Given the description of an element on the screen output the (x, y) to click on. 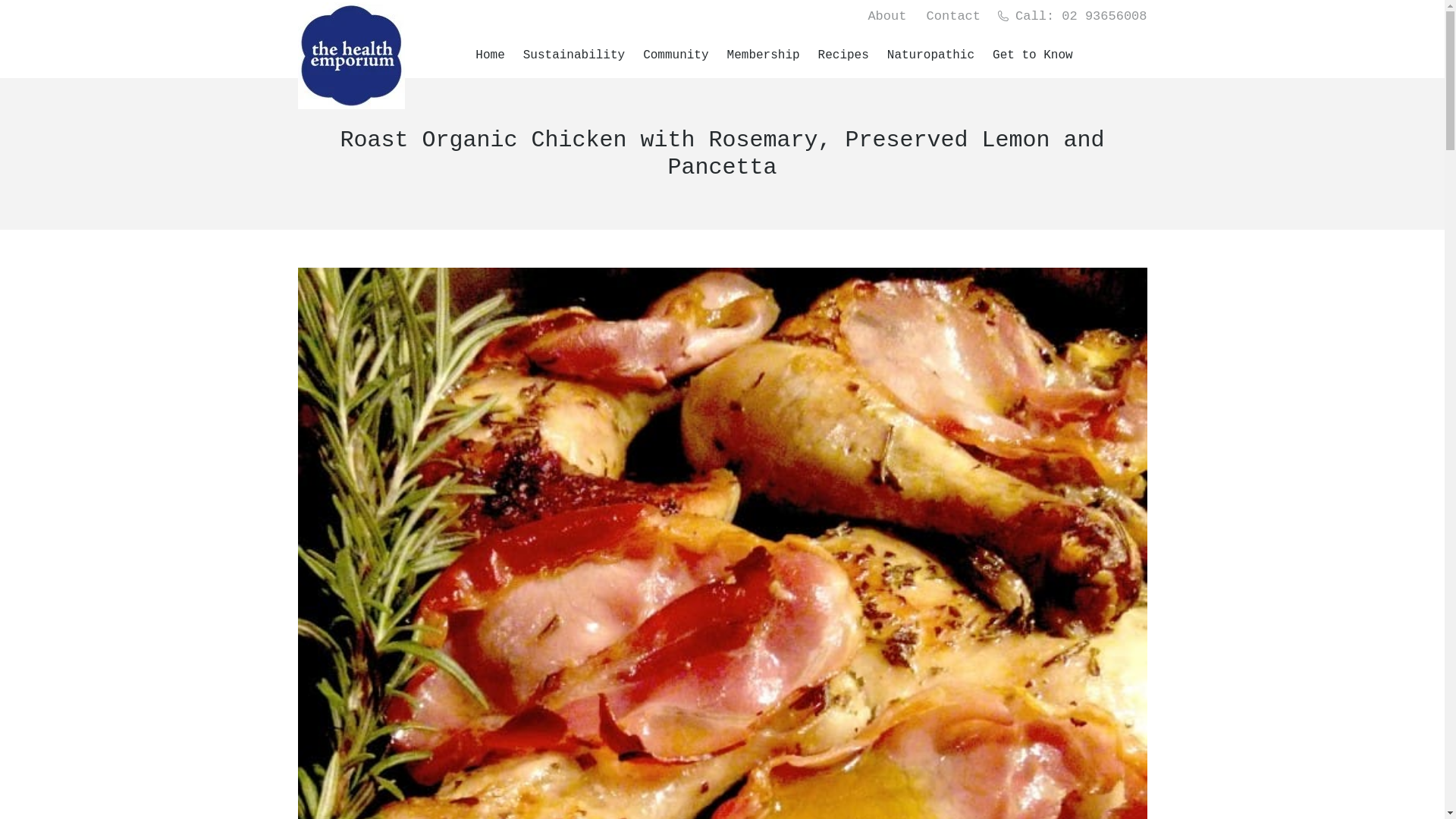
Recipes Element type: text (845, 55)
Post Comment Element type: text (53, 16)
Membership Element type: text (765, 55)
Call: 02 93656008 Element type: text (1071, 16)
Community Element type: text (677, 55)
Contact Element type: text (953, 16)
Get to Know Element type: text (1034, 55)
Sustainability Element type: text (575, 55)
Naturopathic Element type: text (932, 55)
Home Element type: text (491, 55)
About Element type: text (886, 16)
